Given the description of an element on the screen output the (x, y) to click on. 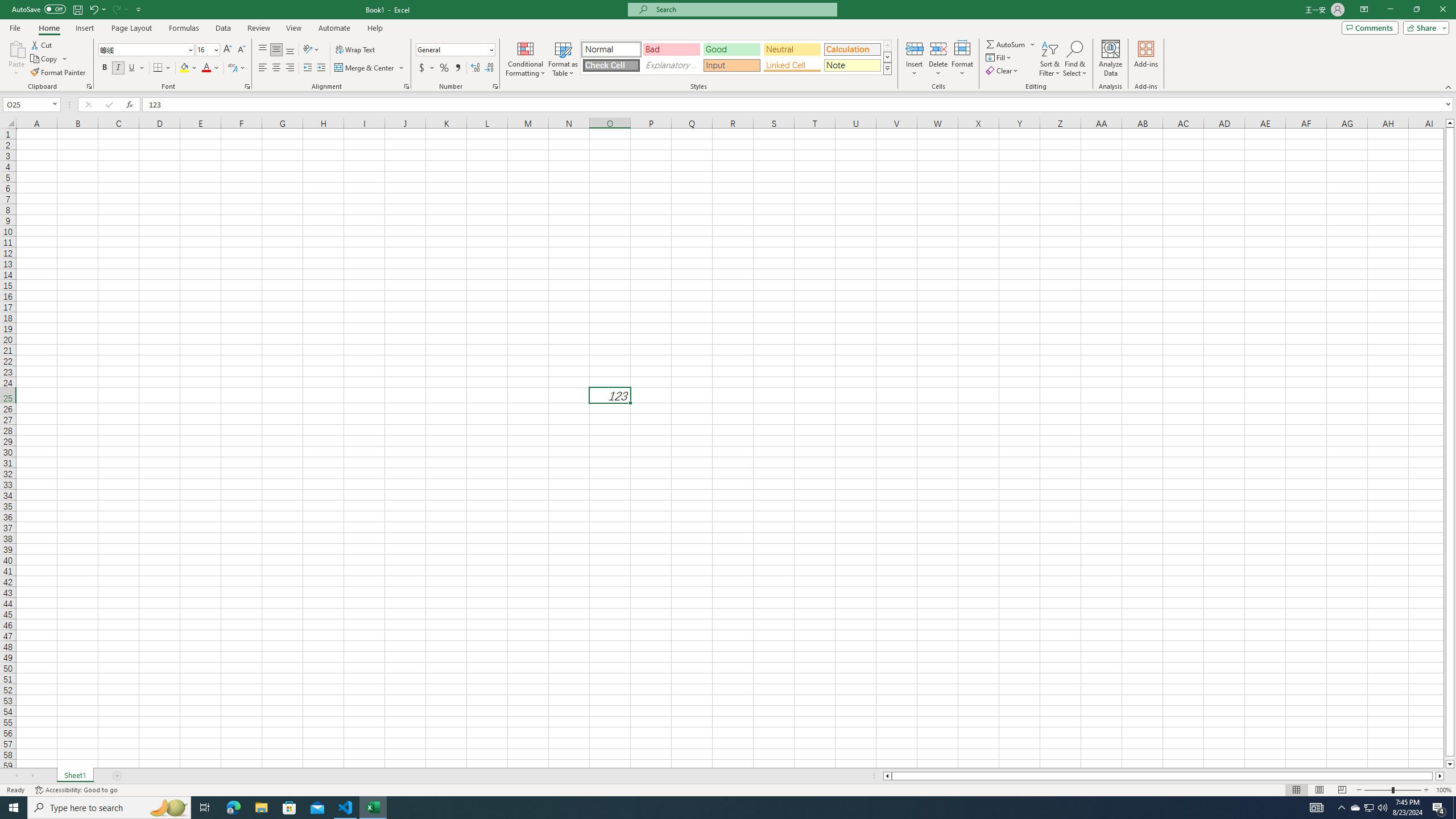
Borders (162, 67)
Font Color RGB(255, 0, 0) (206, 67)
Bold (104, 67)
Top Align (262, 49)
Line down (1449, 764)
Class: NetUIScrollBar (1163, 775)
Sort & Filter (1049, 58)
Linked Cell (791, 65)
Page Break Preview (1342, 790)
Insert (914, 58)
Bottom Align (290, 49)
Paste (16, 48)
